Given the description of an element on the screen output the (x, y) to click on. 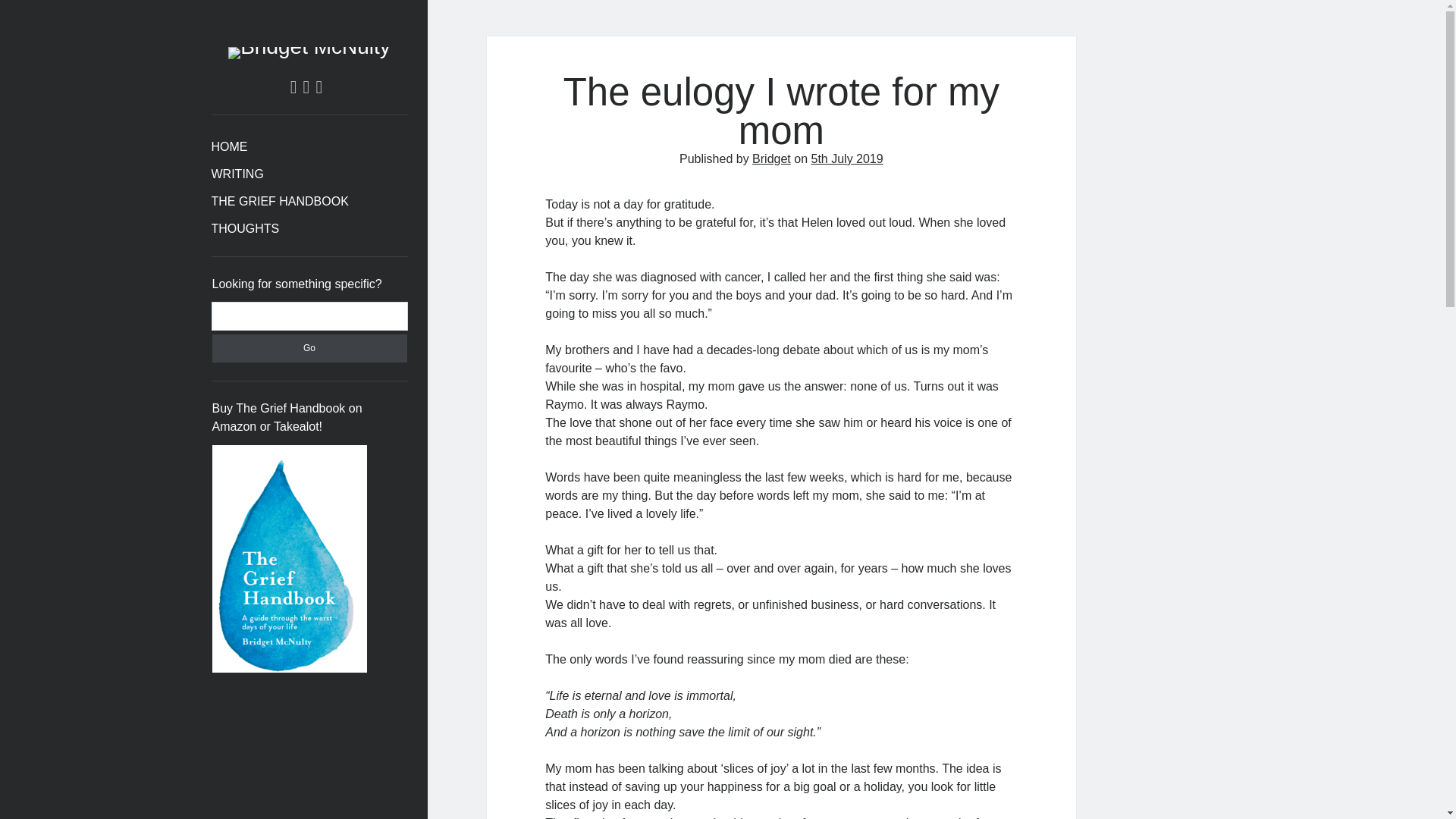
HOME (229, 147)
THOUGHTS (245, 229)
Search for: (309, 316)
THE GRIEF HANDBOOK (279, 201)
WRITING (237, 174)
Go (309, 348)
Bridget (771, 158)
Bridget McNulty (309, 46)
5th July 2019 (846, 158)
Go (309, 348)
